Given the description of an element on the screen output the (x, y) to click on. 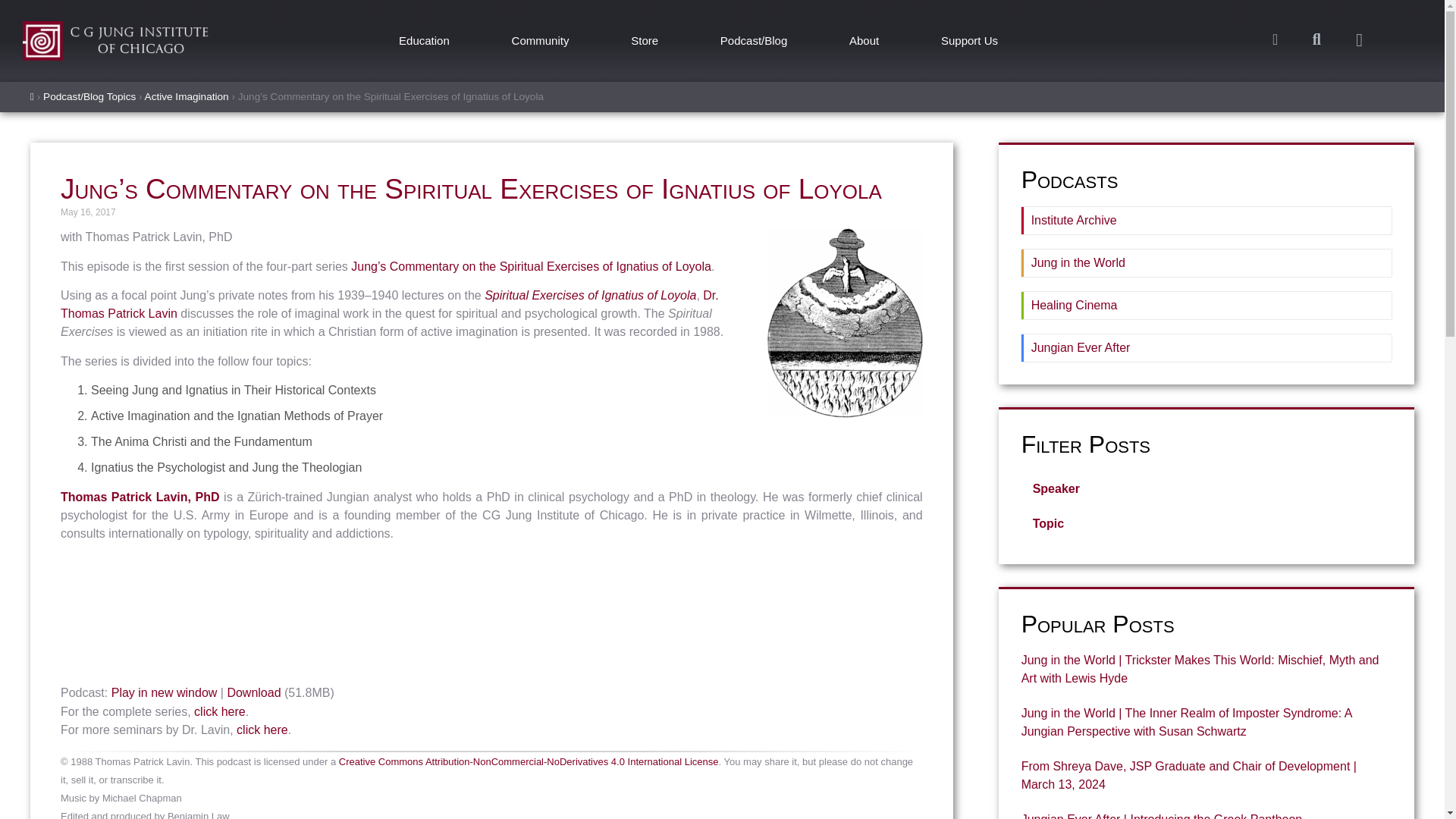
Play in new window (164, 692)
Blubrry Podcast Player (492, 615)
Community (540, 40)
Education (423, 40)
Download (254, 692)
